Given the description of an element on the screen output the (x, y) to click on. 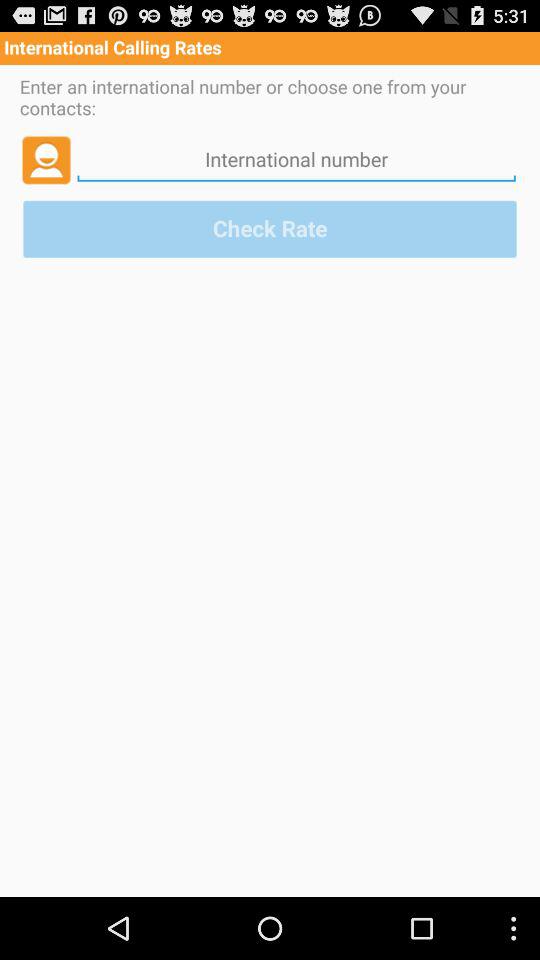
select icon above the check rate (46, 159)
